Given the description of an element on the screen output the (x, y) to click on. 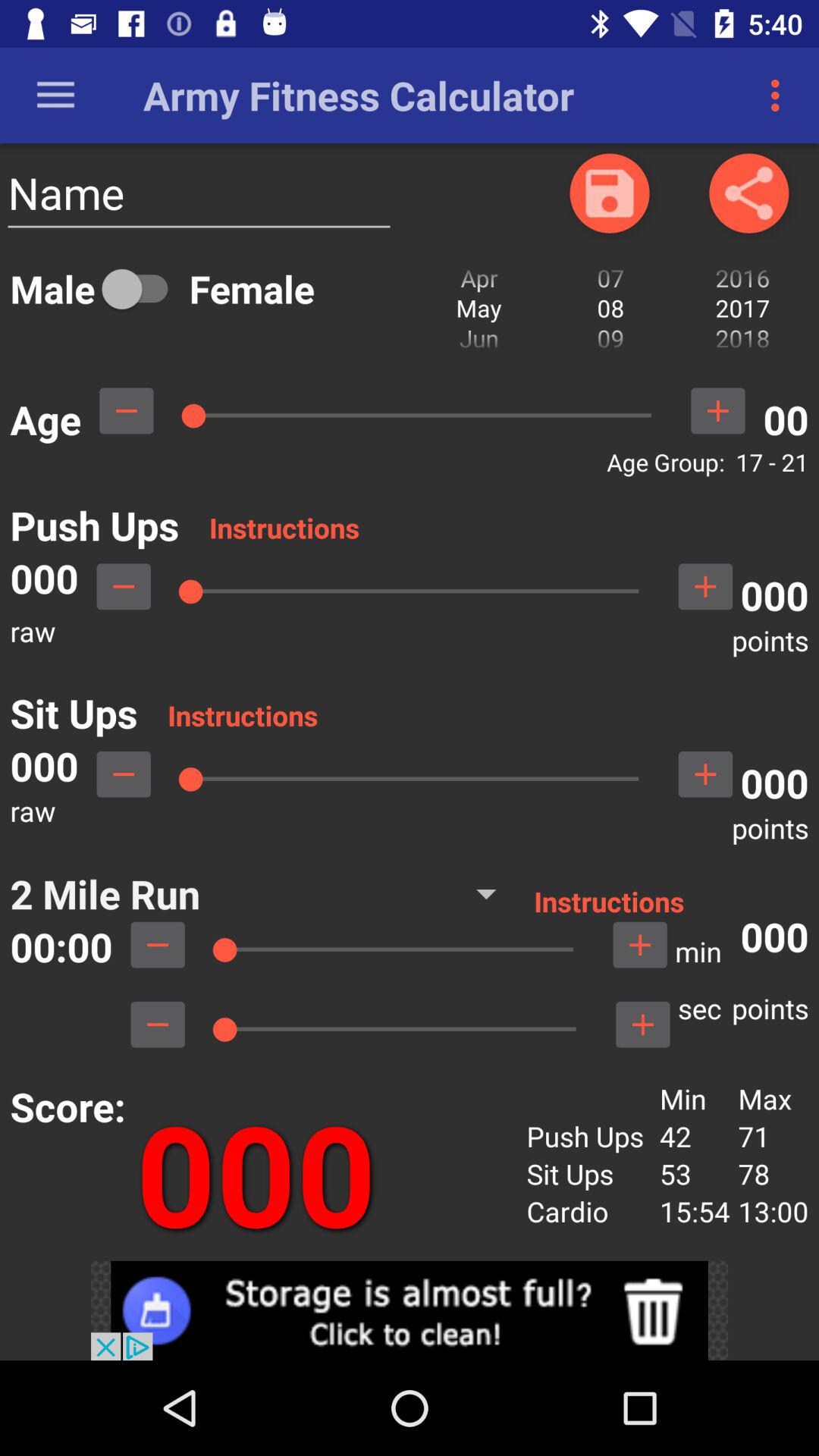
decrease the age value (126, 410)
